Given the description of an element on the screen output the (x, y) to click on. 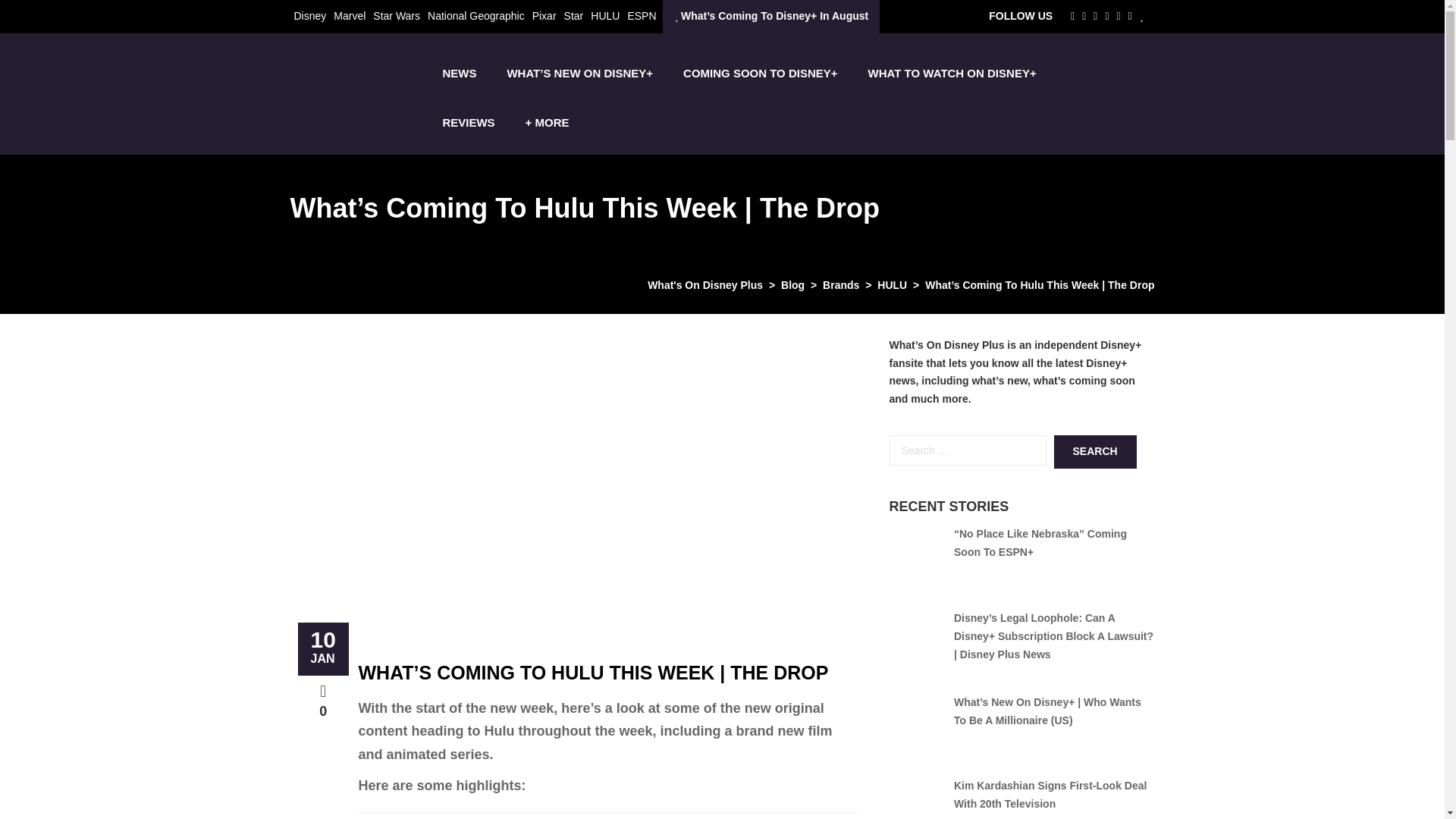
Search (1095, 451)
NEWS (459, 72)
Star Wars (396, 15)
Disney (310, 15)
ESPN (641, 15)
Go to the HULU Category archives. (892, 285)
Marvel (349, 15)
Go to the Brands Category archives. (840, 285)
HULU (605, 15)
Go to Blog. (792, 285)
